Given the description of an element on the screen output the (x, y) to click on. 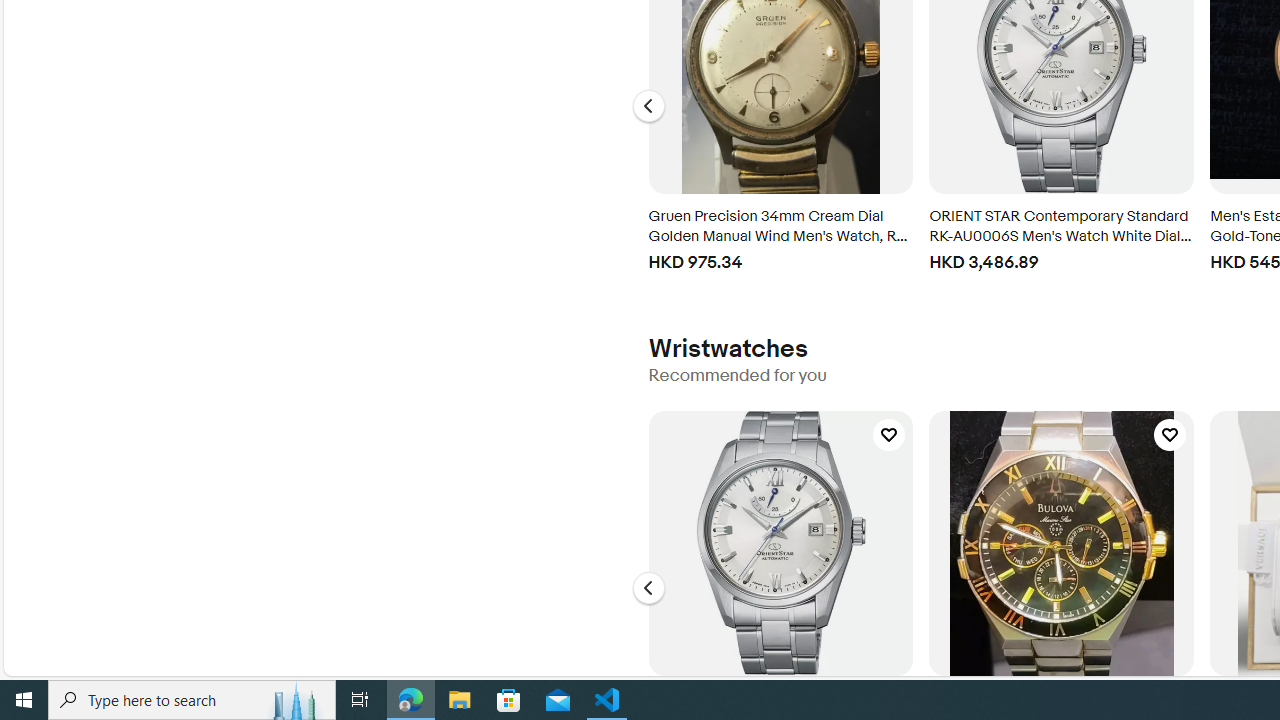
Go to the previous slide, Wristwatches - Carousel (648, 587)
Wristwatches (727, 348)
